Given the description of an element on the screen output the (x, y) to click on. 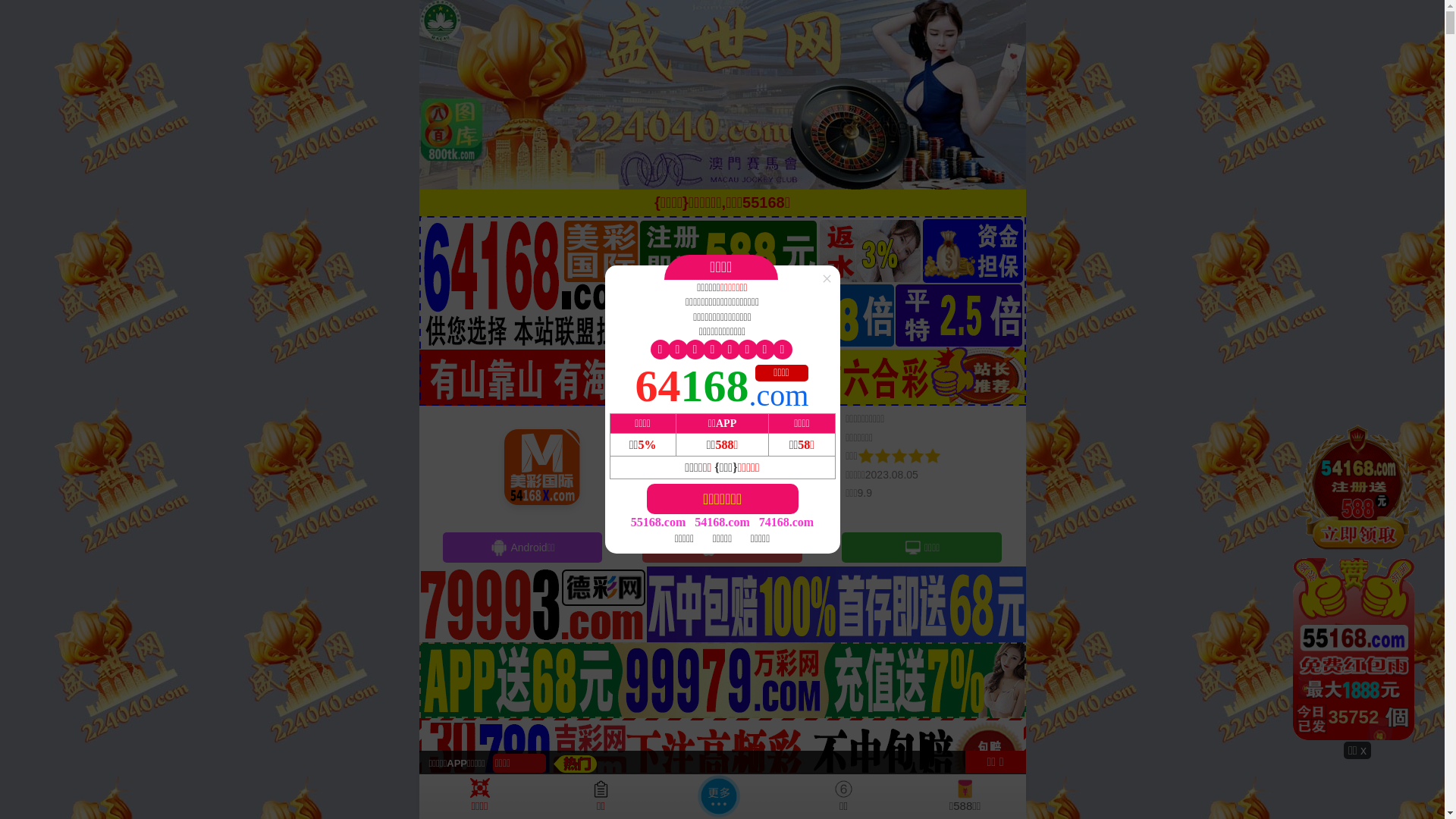
35920 Element type: text (1356, 582)
